Given the description of an element on the screen output the (x, y) to click on. 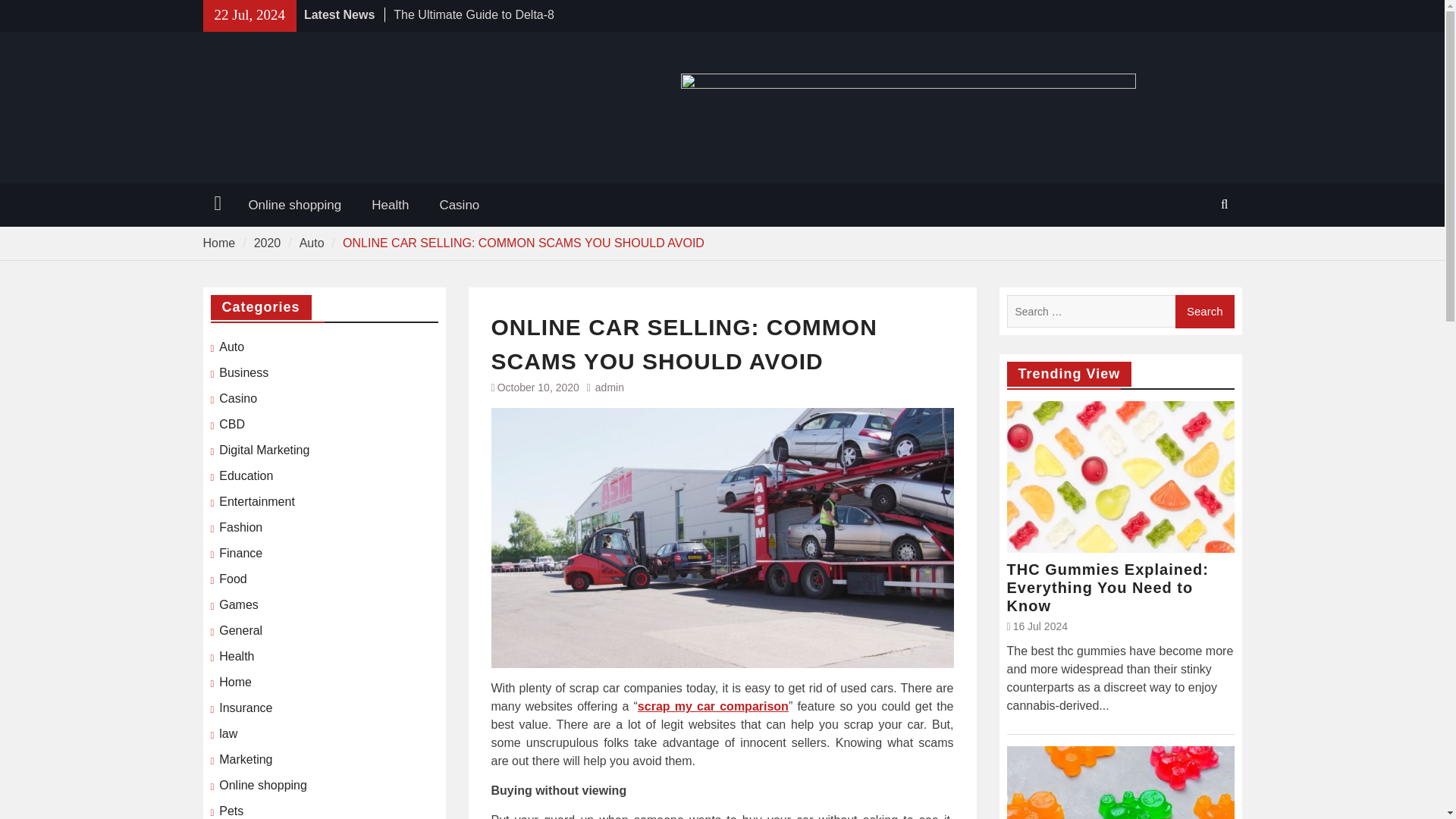
Search (1204, 311)
2020 (267, 242)
Online shopping (294, 205)
THC Gummies Explained: Everything You Need to Know (1120, 587)
Casino (238, 398)
admin (609, 387)
Health (389, 205)
CBD (231, 424)
October 10, 2020 (538, 387)
Entertainment (257, 502)
Digital Marketing (263, 450)
Auto (311, 242)
Finance (240, 553)
Education (246, 475)
scrap my car comparison (713, 706)
